Given the description of an element on the screen output the (x, y) to click on. 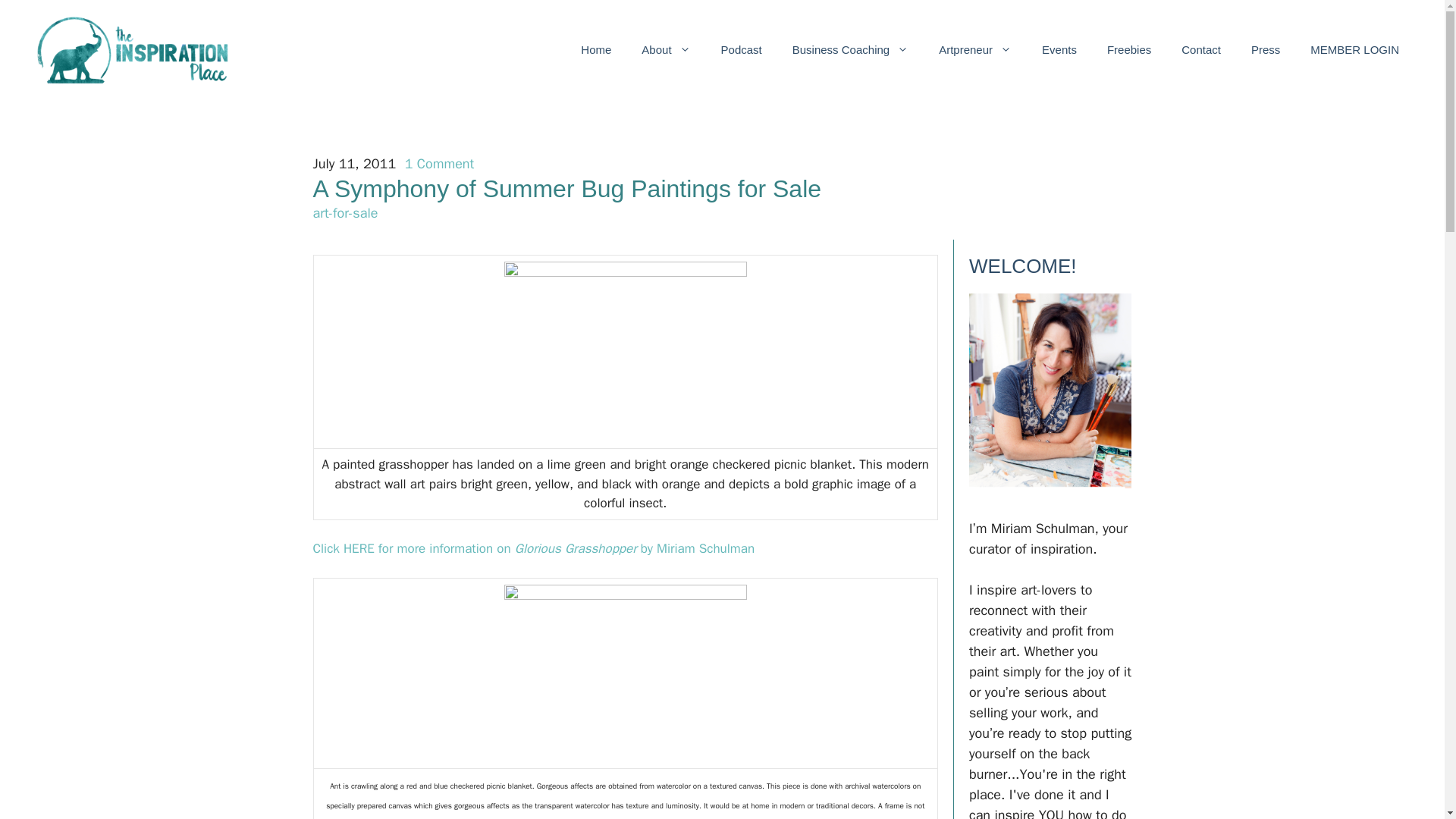
Artpreneur (974, 49)
MEMBER LOGIN (1354, 49)
About (665, 49)
Events (1059, 49)
art-for-sale (345, 212)
1 Comment (439, 163)
Contact (1201, 49)
Press (1265, 49)
Business Coaching (850, 49)
